Given the description of an element on the screen output the (x, y) to click on. 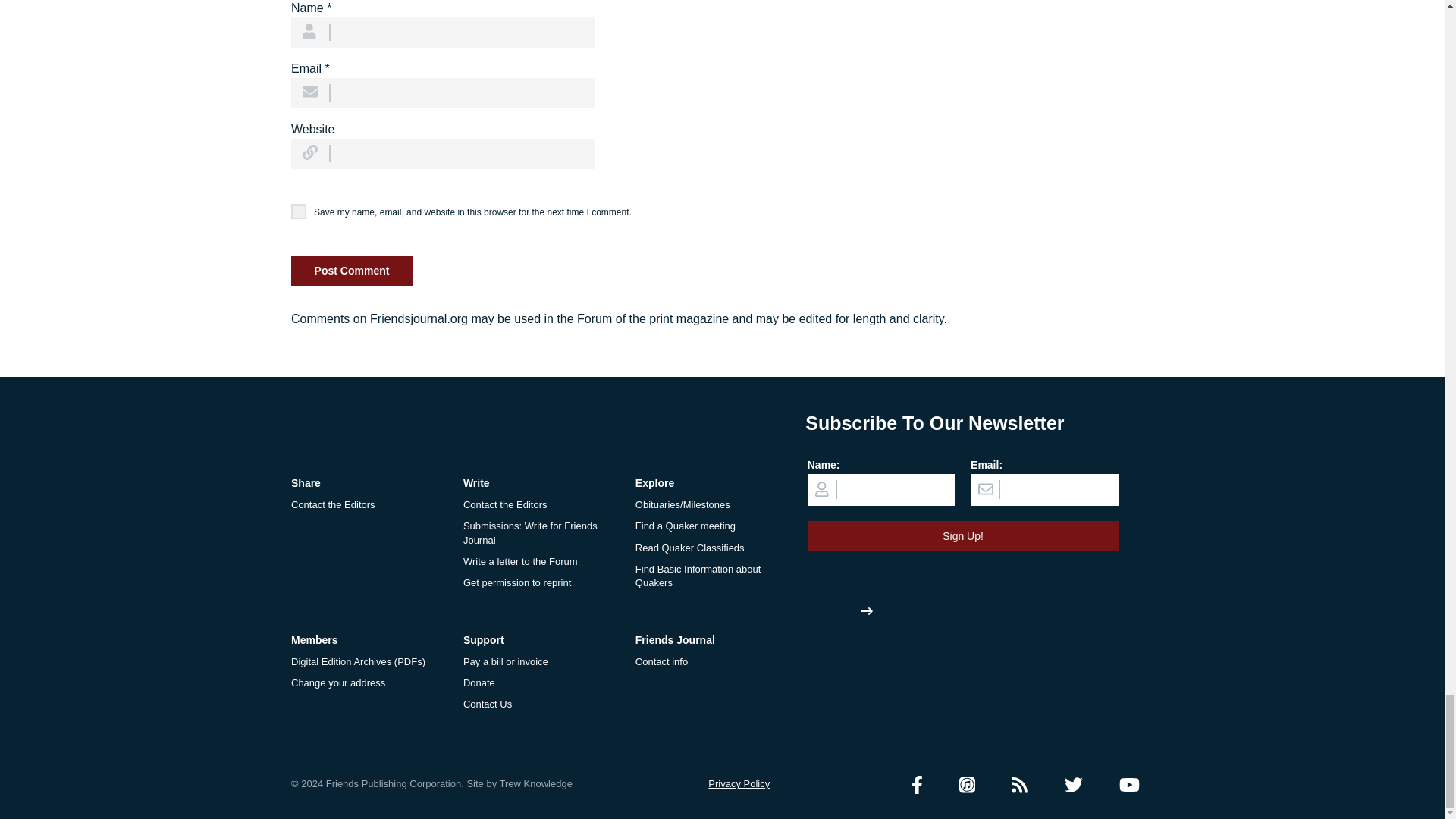
Post Comment (351, 270)
Sign Up! (963, 535)
